Given the description of an element on the screen output the (x, y) to click on. 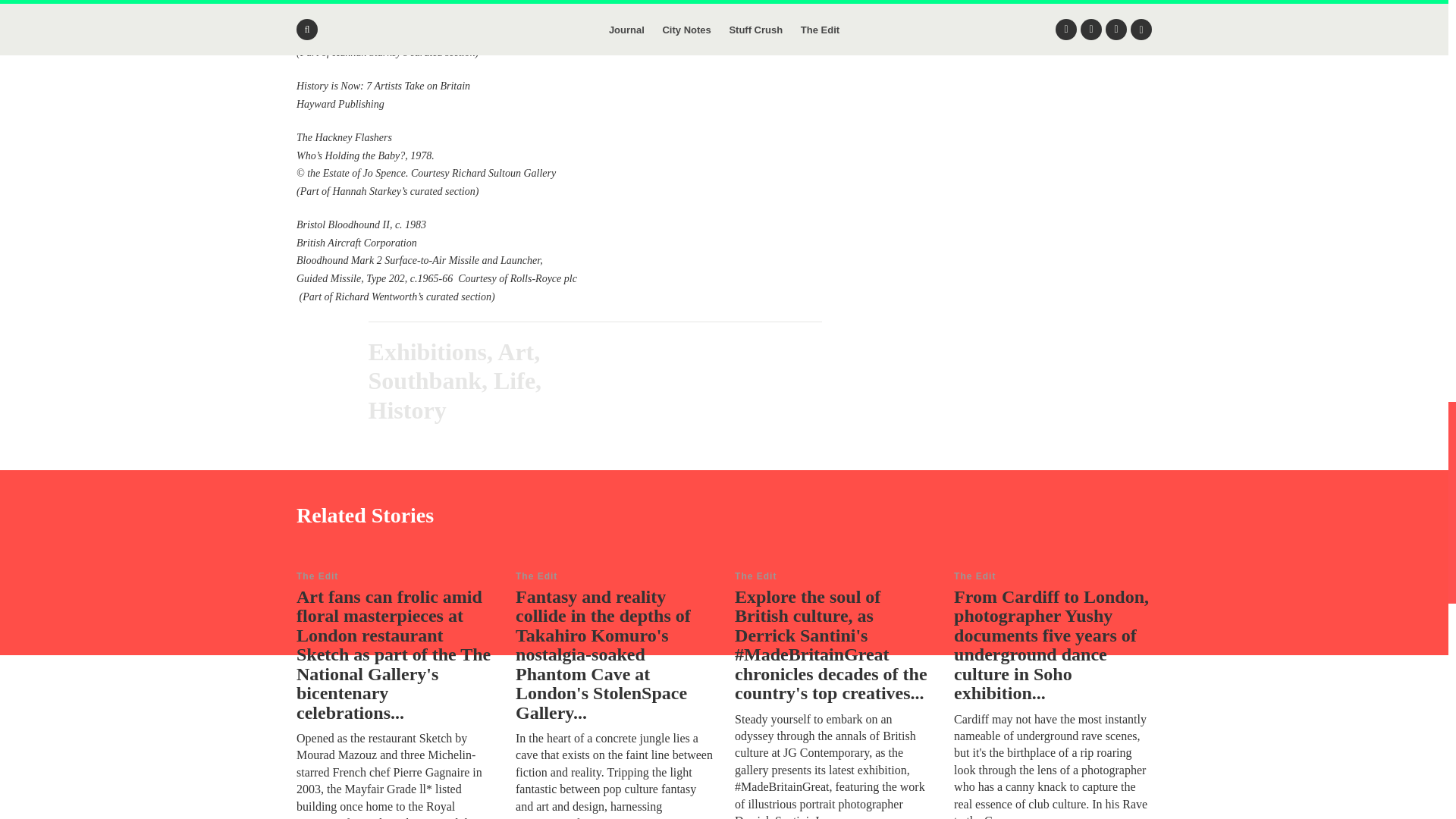
History (407, 410)
Exhibitions (427, 351)
Art (515, 351)
Southbank (424, 379)
Life (514, 379)
